Given the description of an element on the screen output the (x, y) to click on. 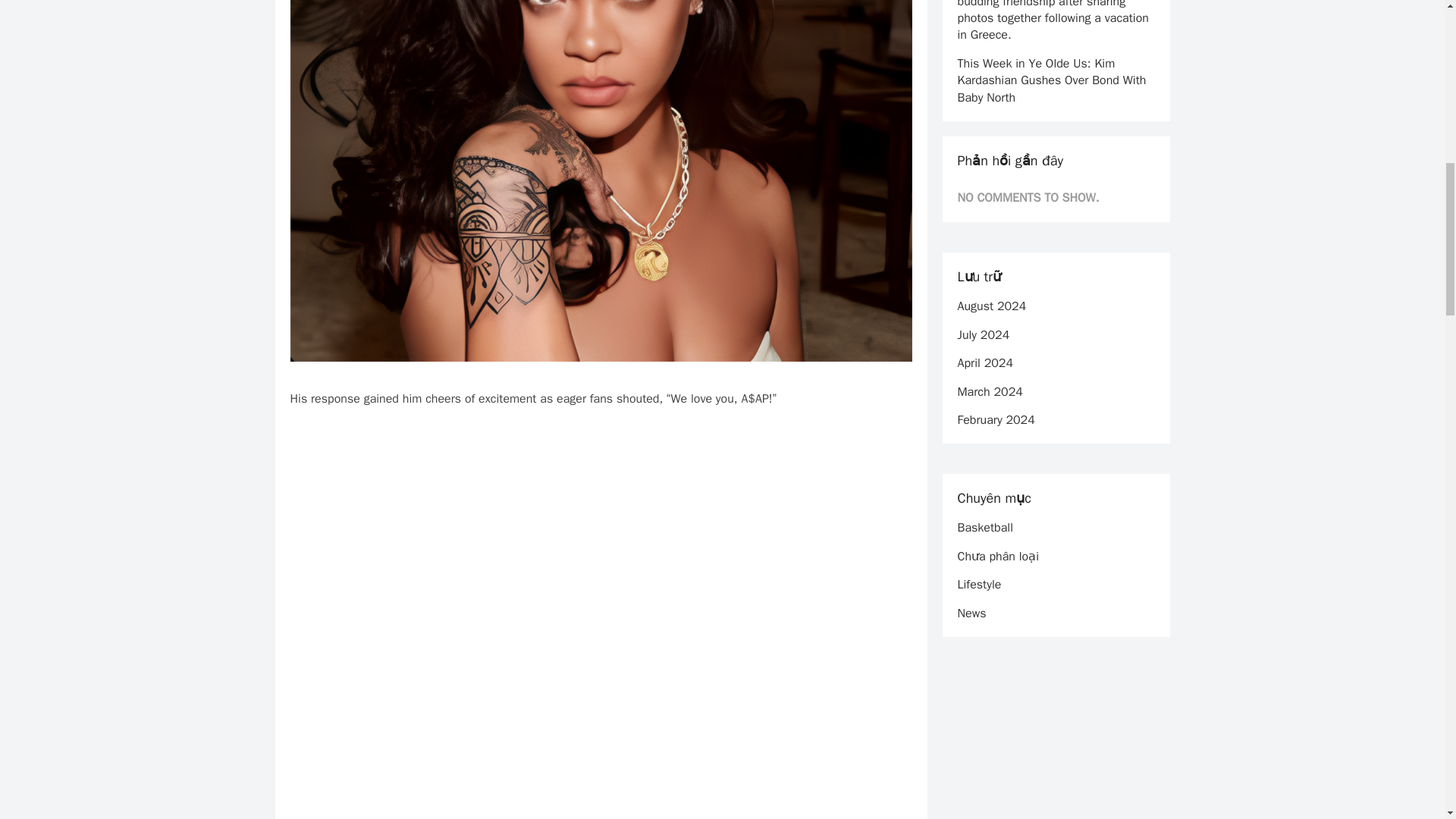
April 2024 (984, 363)
March 2024 (989, 391)
Basketball (983, 527)
News (970, 613)
August 2024 (991, 305)
July 2024 (982, 335)
February 2024 (994, 419)
